Given the description of an element on the screen output the (x, y) to click on. 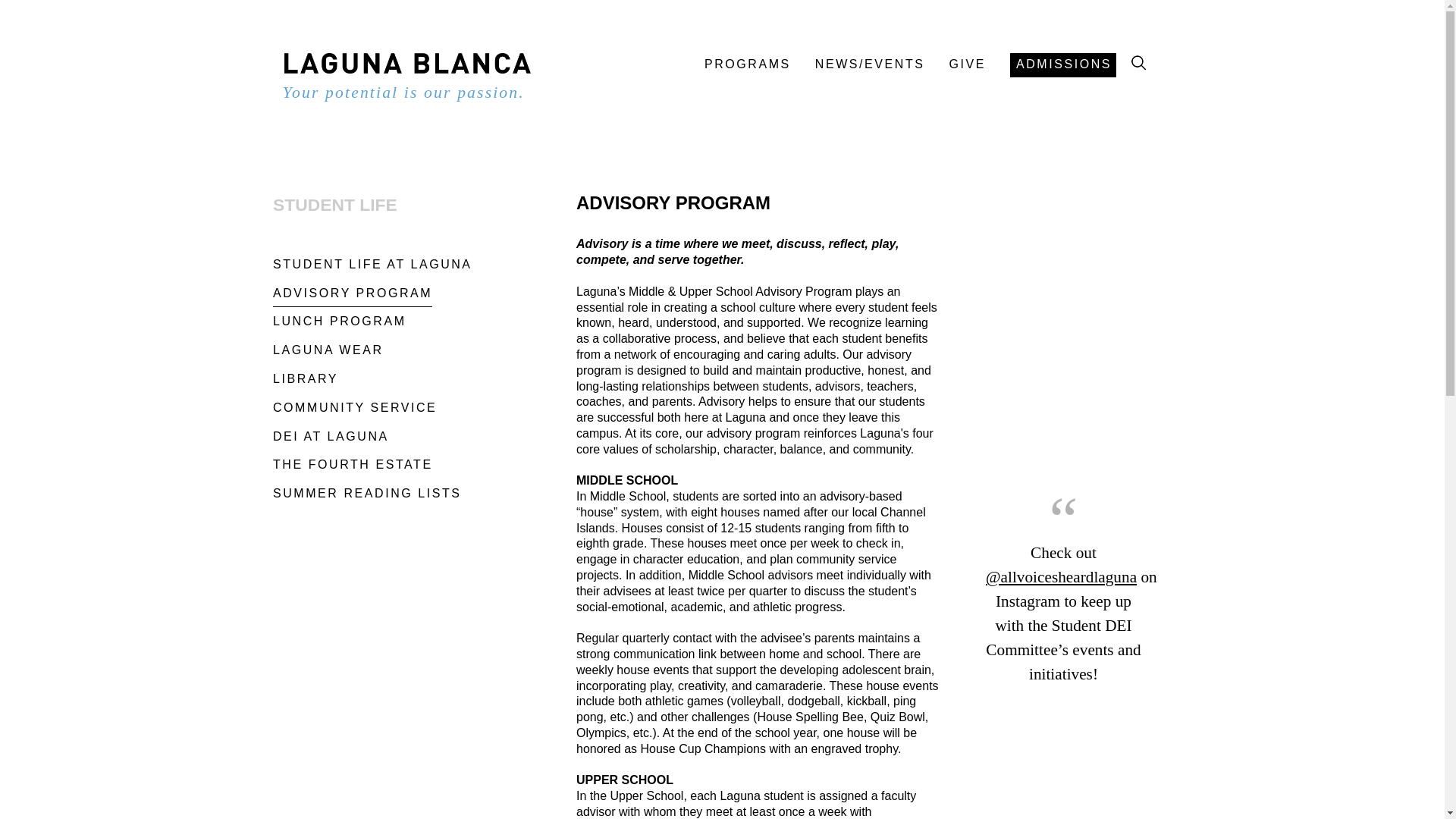
Go (1138, 62)
